Given the description of an element on the screen output the (x, y) to click on. 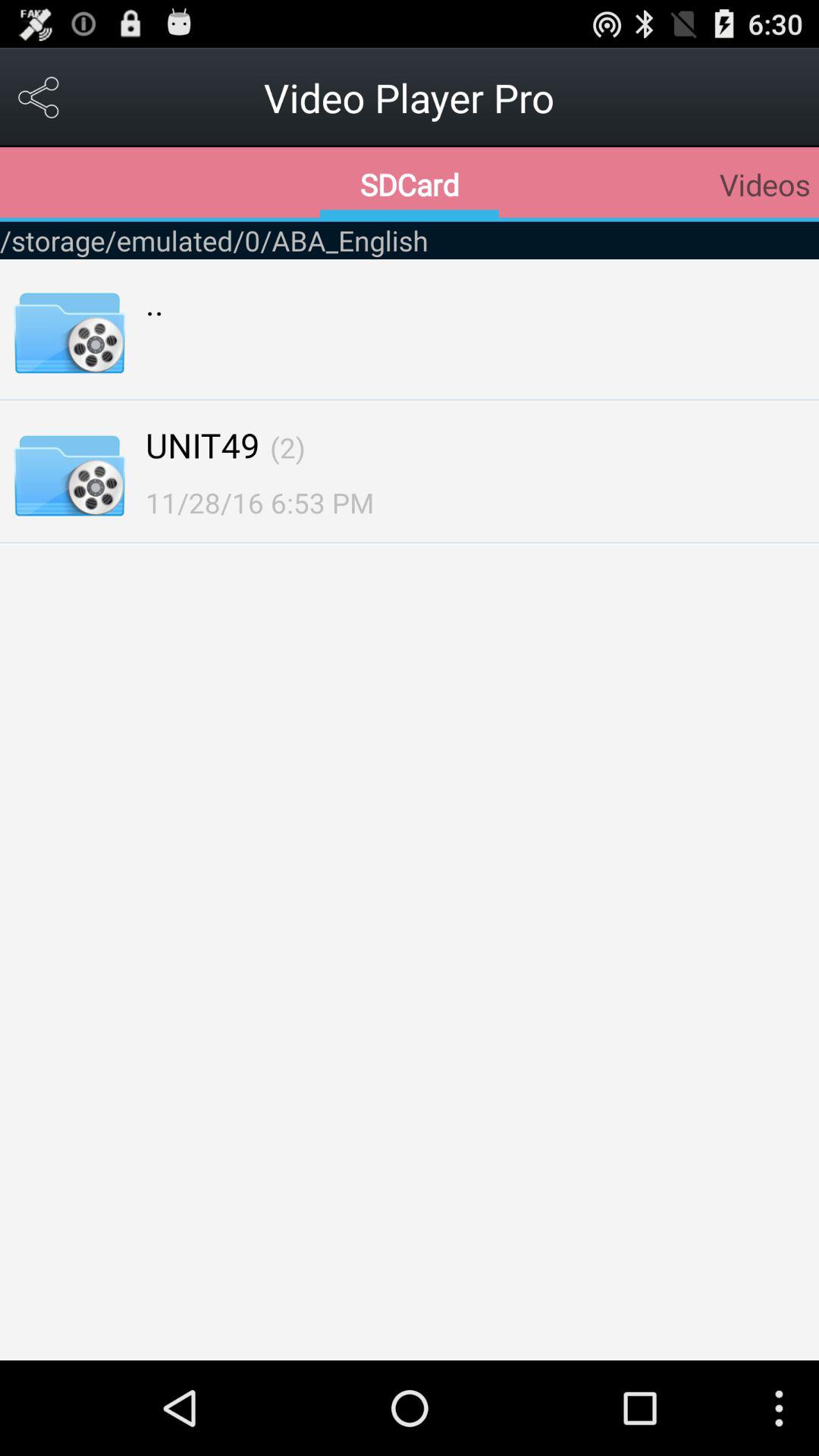
flip until the (2) (287, 447)
